Given the description of an element on the screen output the (x, y) to click on. 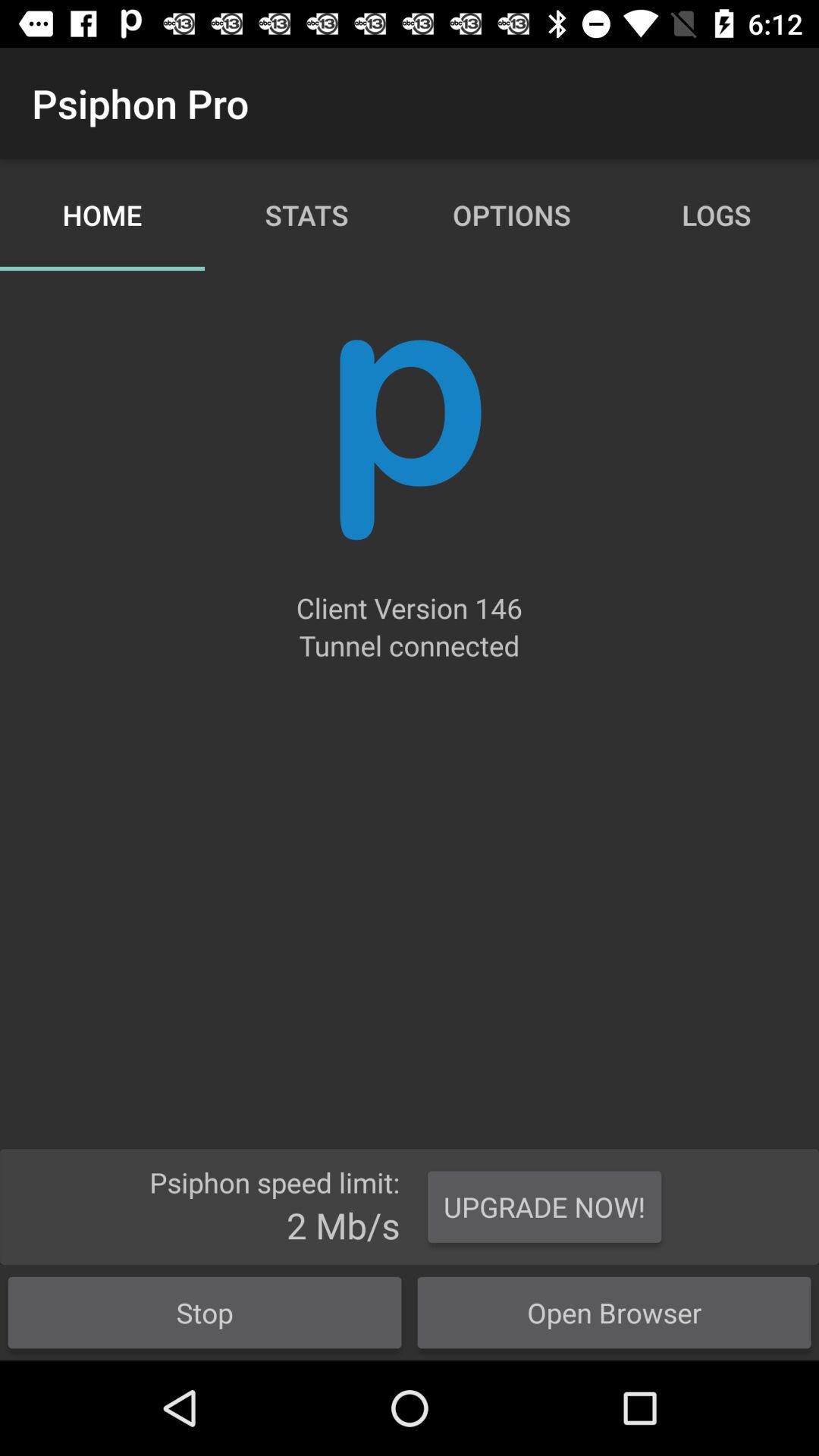
tap the icon next to the stop icon (614, 1312)
